Given the description of an element on the screen output the (x, y) to click on. 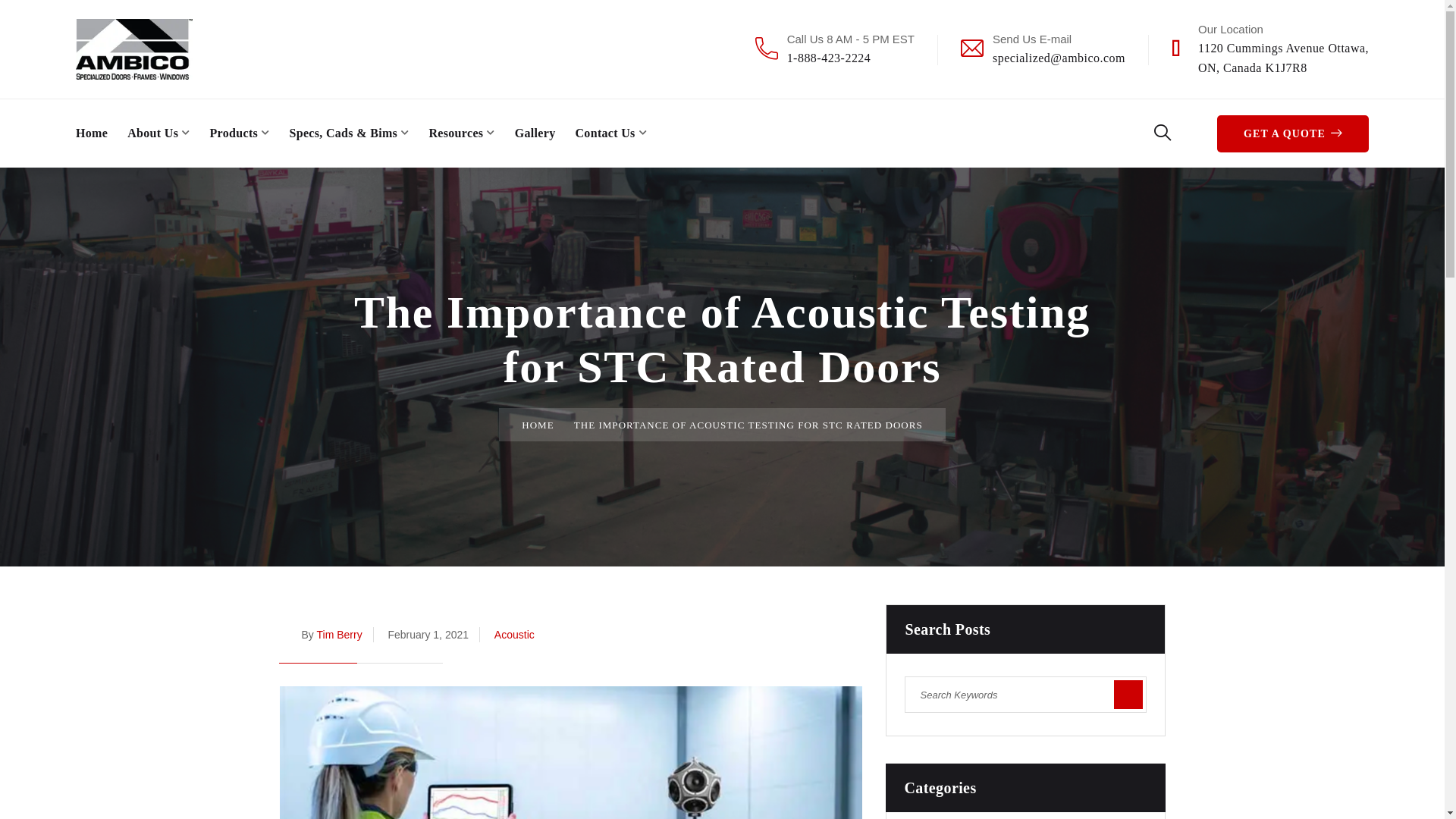
About Us (1283, 57)
1-888-423-2224 (158, 133)
AMBICO Limited (828, 57)
Posts by Tim Berry (133, 47)
Products (338, 634)
Home (239, 133)
